Given the description of an element on the screen output the (x, y) to click on. 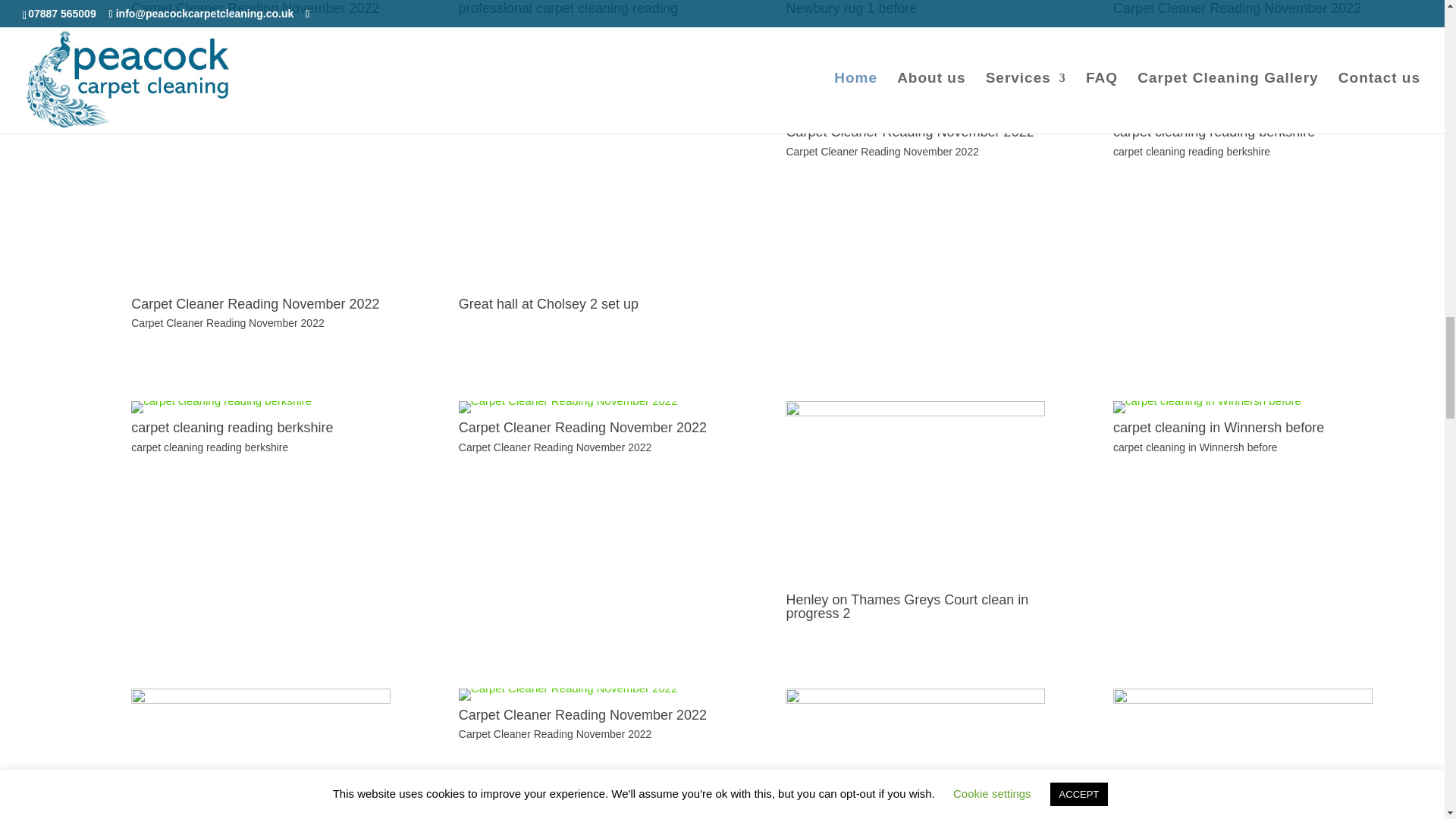
Great hall at Cholsey 2 set up (587, 115)
Carpet Cleaner Reading November 2022 (260, 285)
carpet cleaning reading berkshire (221, 400)
Henley on Thames Greys Court clean in progress 2 (915, 411)
Carpet Cleaner Reading November 2022 (568, 400)
carpet cleaning reading berkshire (1203, 104)
carpet cleaning in Winnersh before (1207, 400)
Carpet Cleaner Reading November 2022 (895, 104)
